Given the description of an element on the screen output the (x, y) to click on. 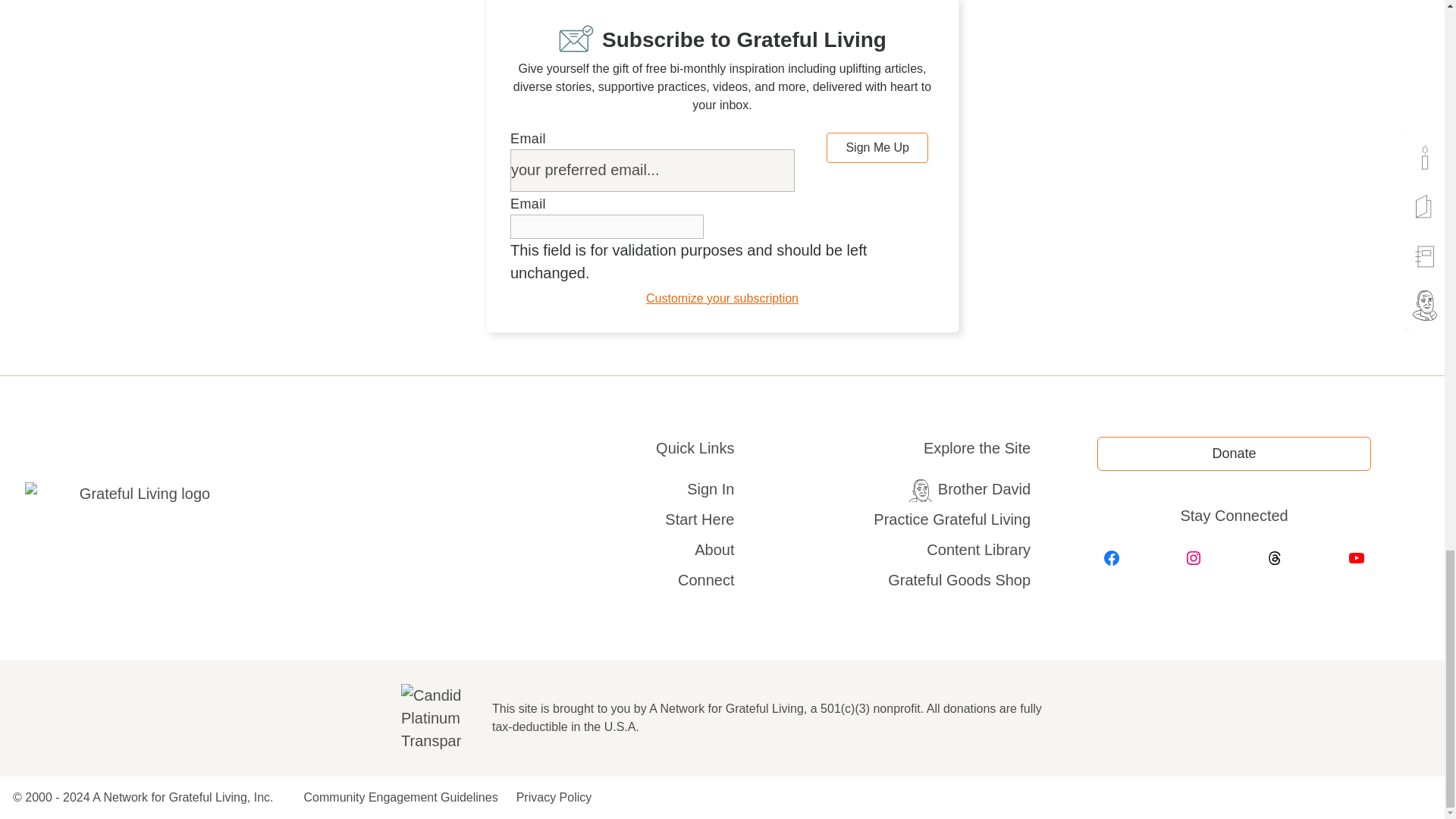
Sign Me Up (877, 147)
Start Here (699, 519)
Customize your subscription (721, 297)
Sign Me Up (877, 147)
Sign In (710, 488)
